Given the description of an element on the screen output the (x, y) to click on. 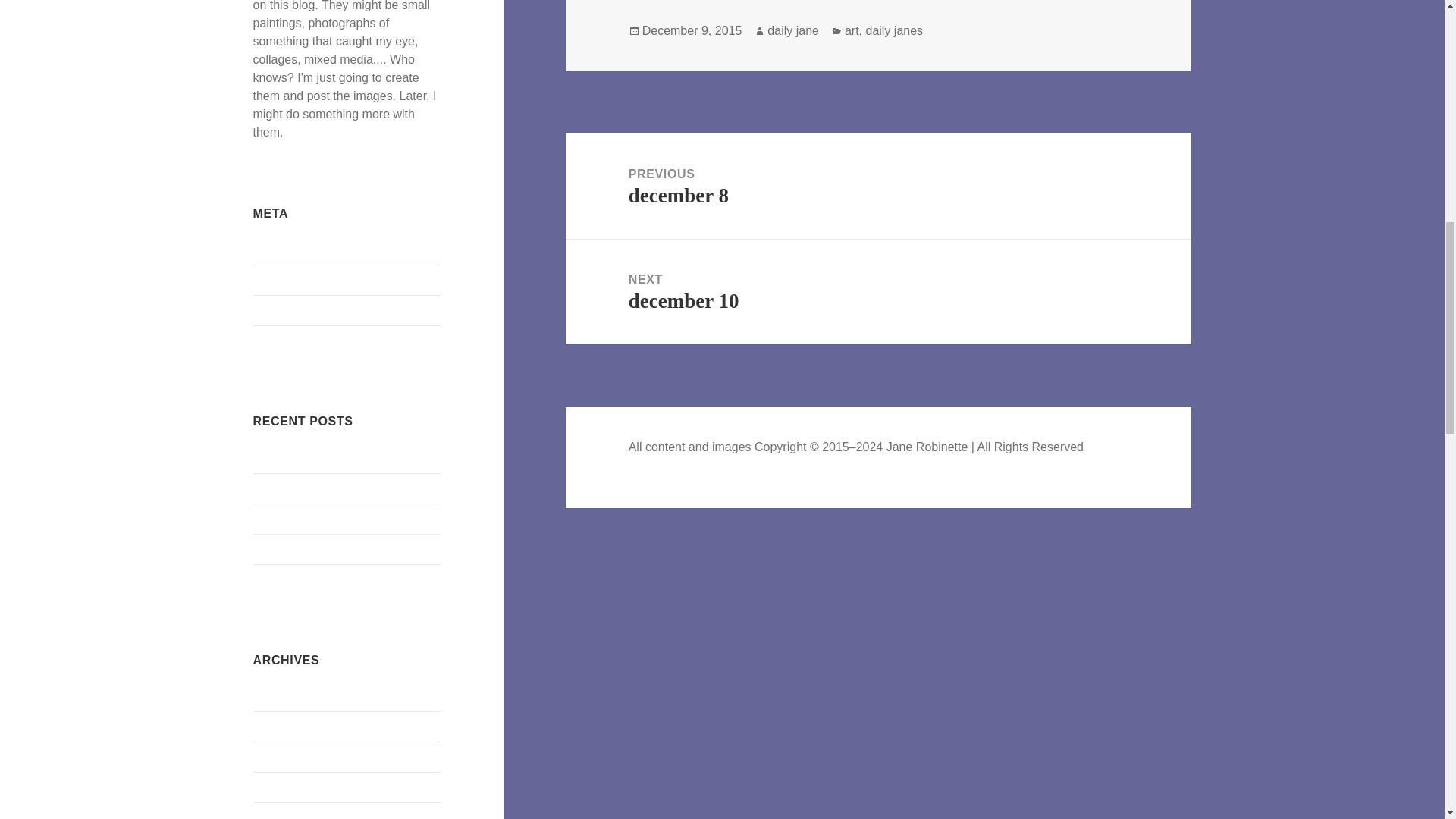
December 2017 (296, 696)
Entries feed (285, 279)
november 22, 2017 (305, 517)
Log in (269, 249)
november 20, 2017 (305, 578)
december 12, 2017 (305, 457)
November 2017 (296, 726)
September 2017 (297, 787)
August 2017 (287, 815)
november 21, 2017 (305, 548)
